Given the description of an element on the screen output the (x, y) to click on. 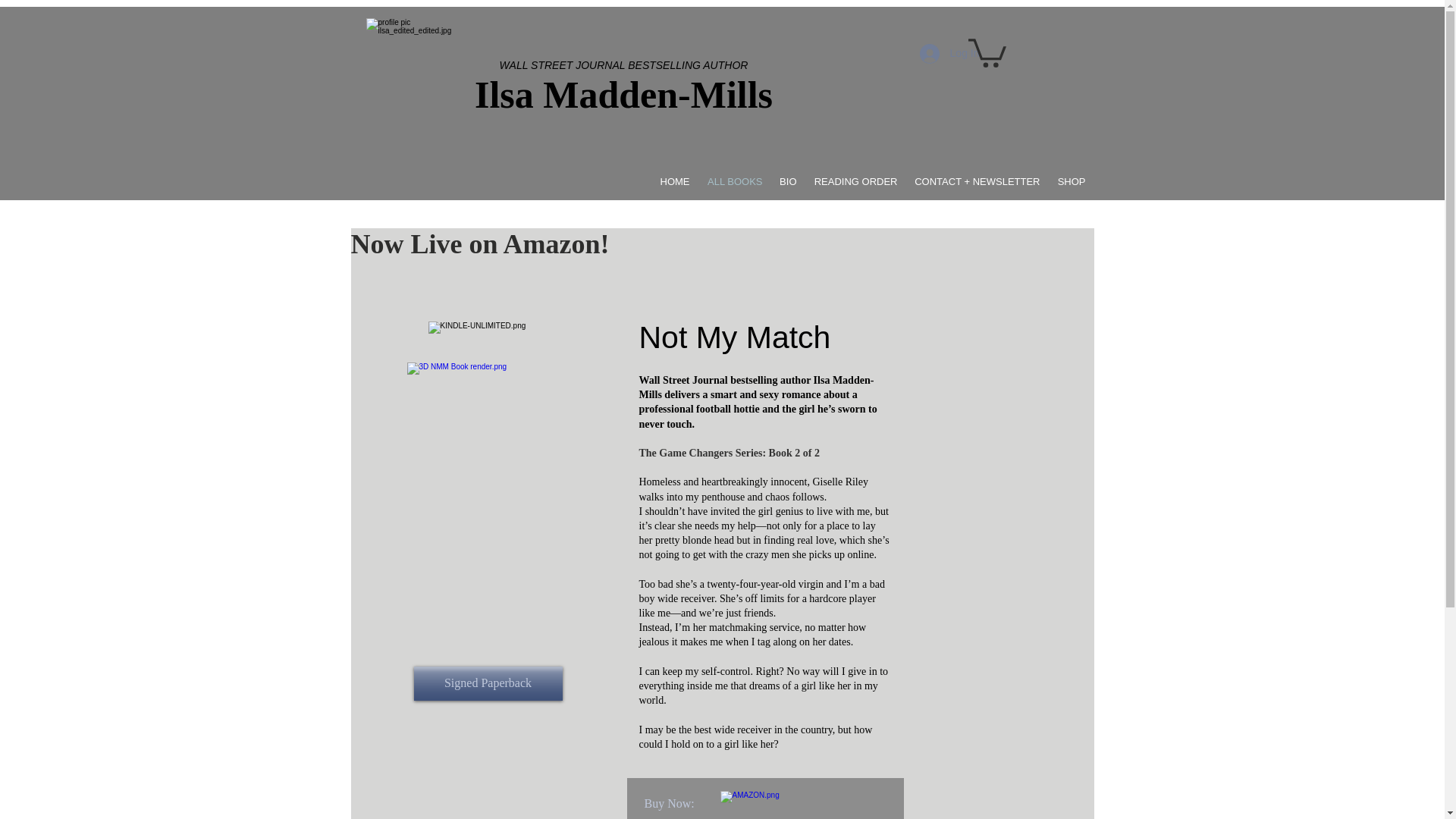
SHOP (1070, 181)
Ilsa Madden-Mills (623, 94)
HOME (674, 181)
Log In (949, 53)
ALL BOOKS (733, 181)
Buy Now: (670, 803)
BIO (787, 181)
Signed Paperback (487, 683)
READING ORDER (855, 181)
